Given the description of an element on the screen output the (x, y) to click on. 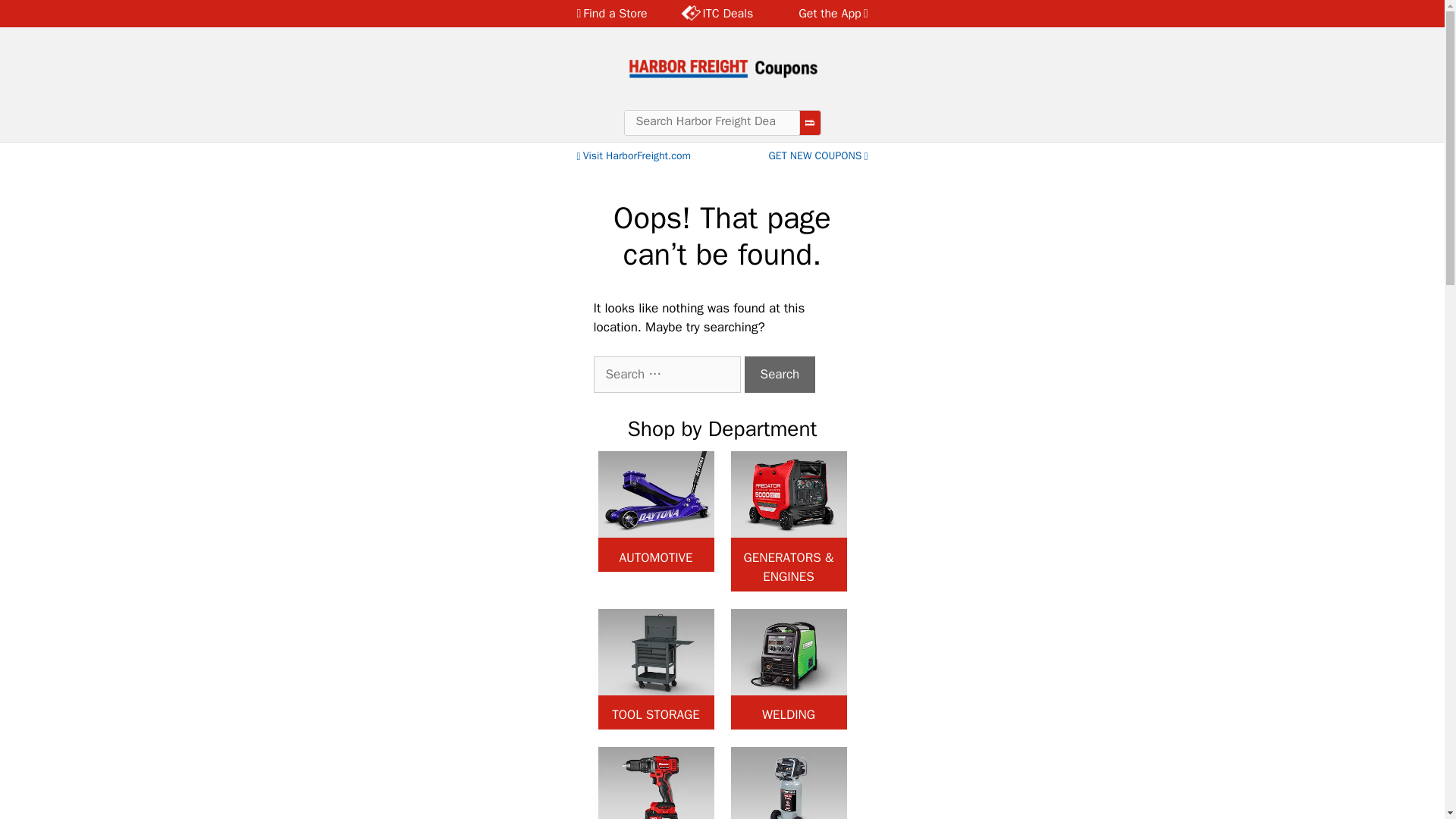
Inside Track Club Member Deals (717, 13)
Get the App (823, 13)
Harbor Freight Coupons (722, 67)
Download the Harbor Freight App (823, 13)
Search (779, 374)
Search for: (665, 374)
Visit HarborFreight.com (632, 155)
POWER TOOLS (654, 782)
WELDING (788, 669)
TOOL STORAGE (654, 669)
